Given the description of an element on the screen output the (x, y) to click on. 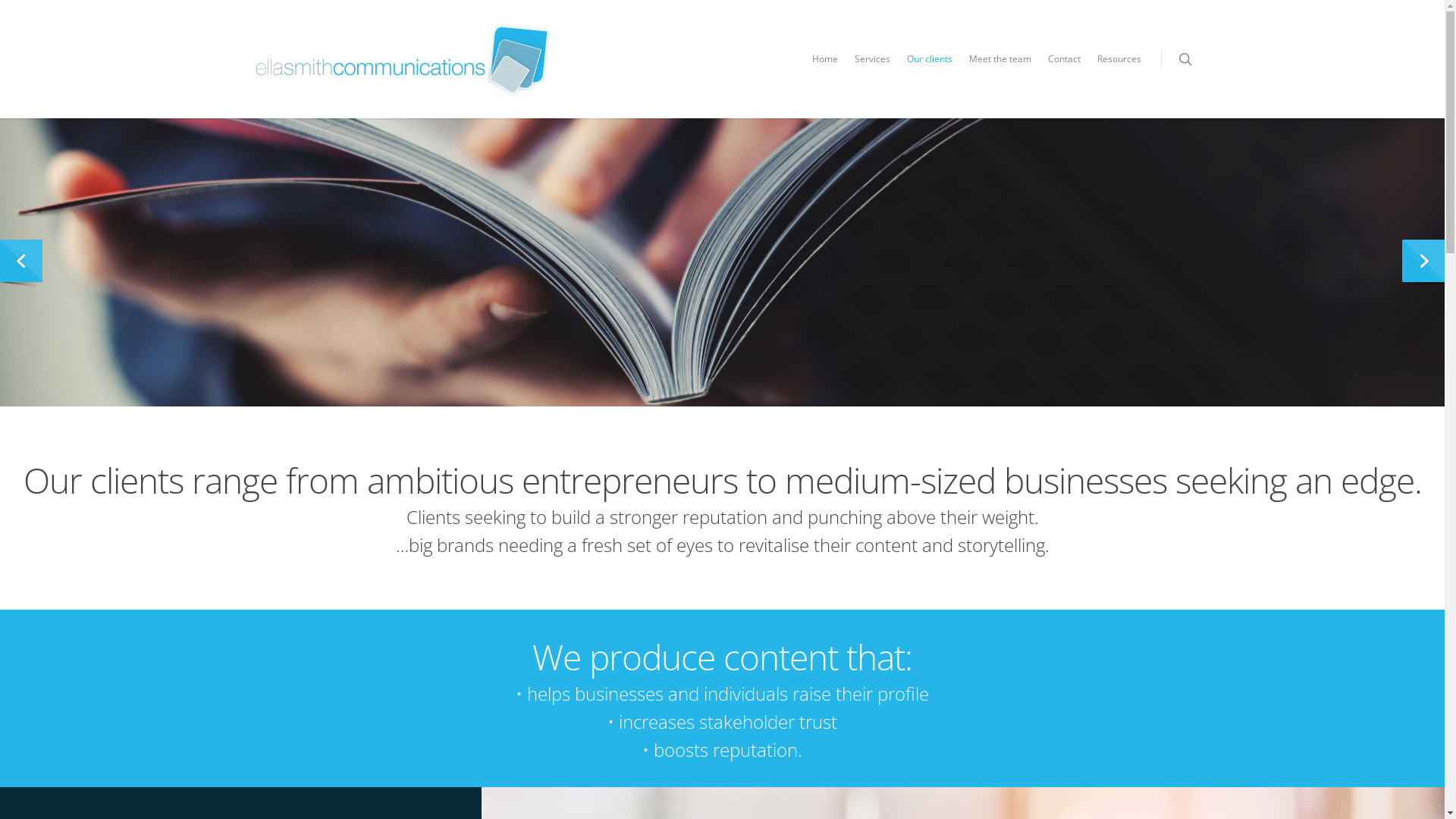
Resources Element type: text (1118, 69)
Meet the team Element type: text (999, 69)
Services Element type: text (872, 69)
Our clients Element type: text (929, 69)
Contact Element type: text (1064, 69)
Home Element type: text (824, 69)
